Given the description of an element on the screen output the (x, y) to click on. 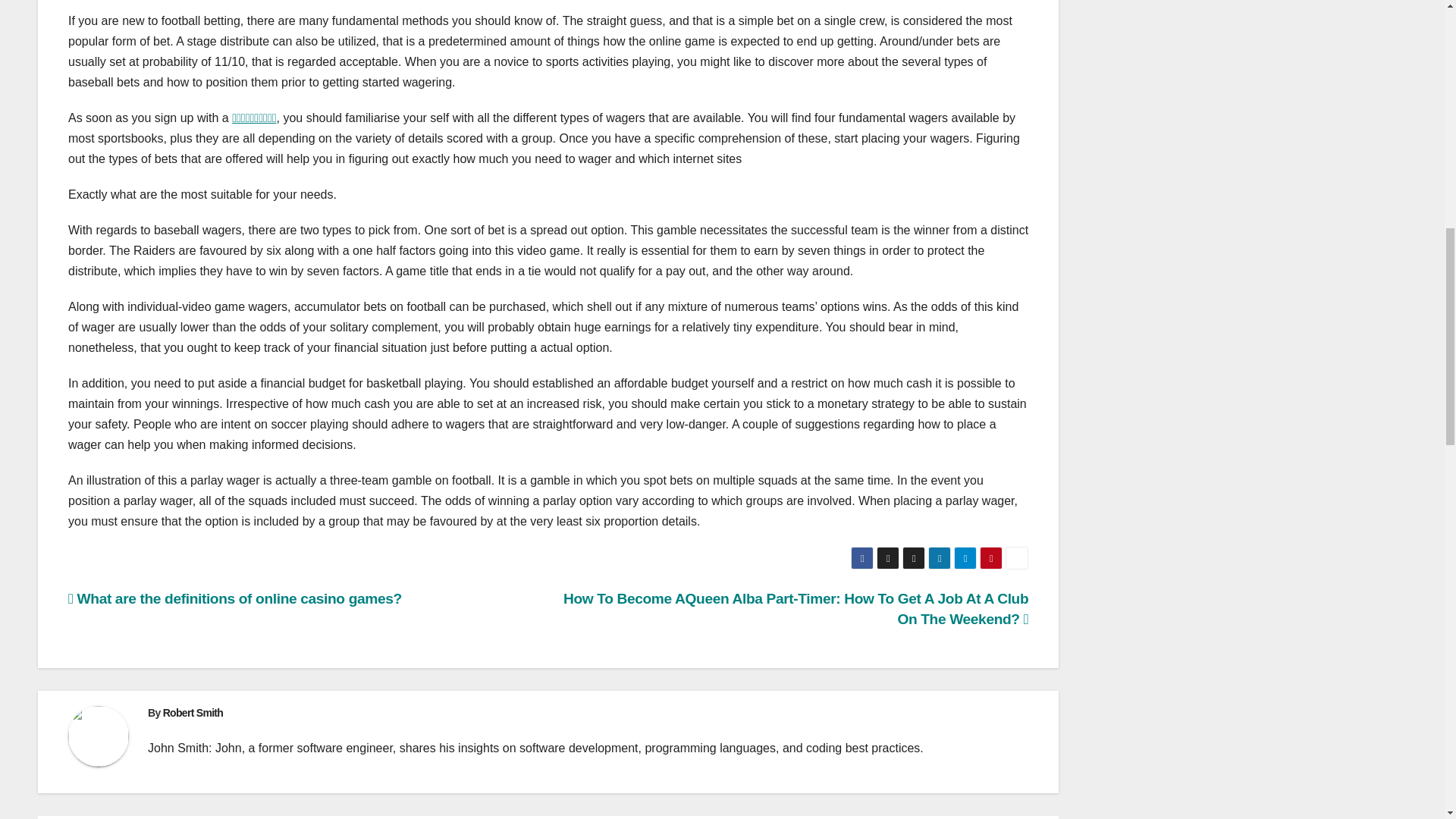
What are the definitions of online casino games? (234, 598)
Robert Smith (193, 712)
